Given the description of an element on the screen output the (x, y) to click on. 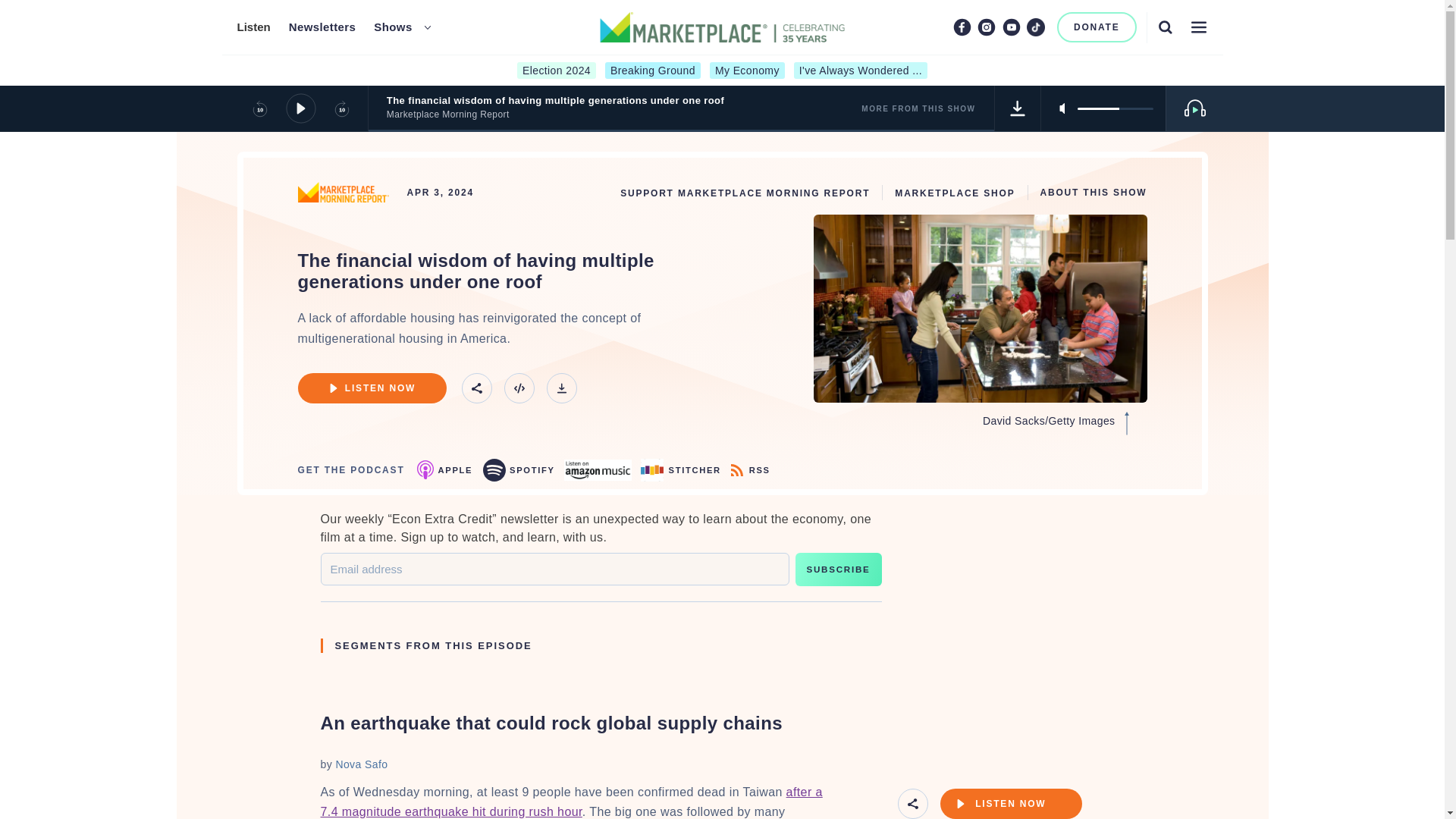
TikTok (1035, 27)
Search (1164, 27)
Listen Now (371, 388)
DONATE (1097, 27)
Shows (393, 26)
Newsletters (322, 27)
Listen Now (1010, 803)
Youtube (1011, 27)
Download Track (1017, 108)
